Given the description of an element on the screen output the (x, y) to click on. 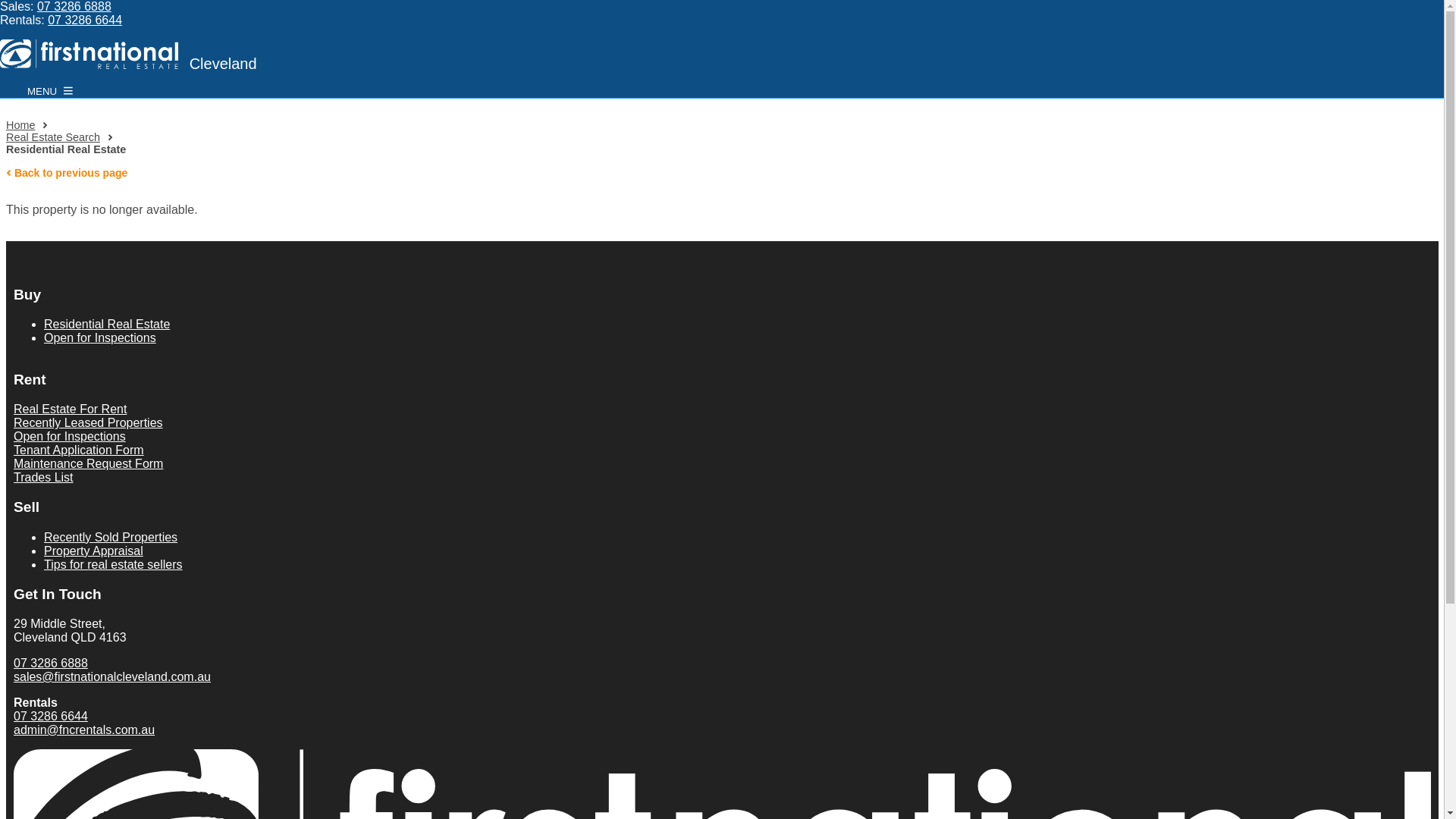
Maintenance Request Form Element type: text (88, 463)
Trades List Element type: text (43, 476)
07 3286 6888 Element type: text (74, 6)
Tips for real estate sellers Element type: text (112, 564)
admin@fncrentals.com.au Element type: text (83, 729)
Residential Real Estate Element type: text (106, 323)
Open for Inspections Element type: text (99, 337)
07 3286 6644 Element type: text (50, 715)
Recently Sold Properties Element type: text (110, 536)
Open for Inspections Element type: text (69, 435)
Home Element type: text (20, 125)
sales@firstnationalcleveland.com.au Element type: text (111, 676)
07 3286 6888 Element type: text (50, 662)
07 3286 6644 Element type: text (84, 19)
Real Estate For Rent Element type: text (69, 408)
MENU Element type: text (49, 90)
Recently Leased Properties Element type: text (88, 422)
Property Appraisal Element type: text (93, 550)
Back to previous page Element type: text (66, 172)
Tenant Application Form Element type: text (78, 449)
Real Estate Search Element type: text (53, 137)
